Given the description of an element on the screen output the (x, y) to click on. 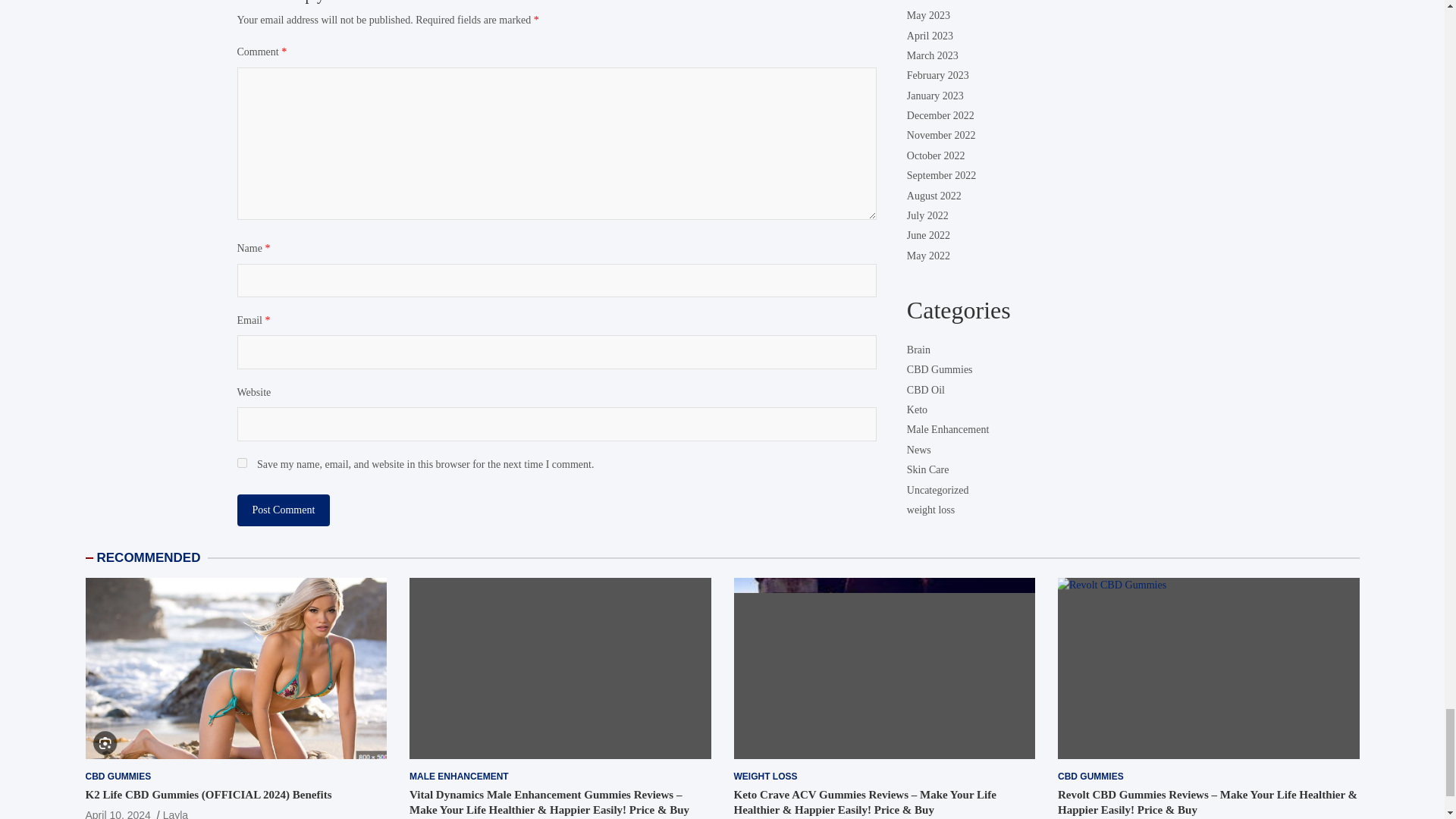
yes (240, 462)
Post Comment (282, 510)
